Given the description of an element on the screen output the (x, y) to click on. 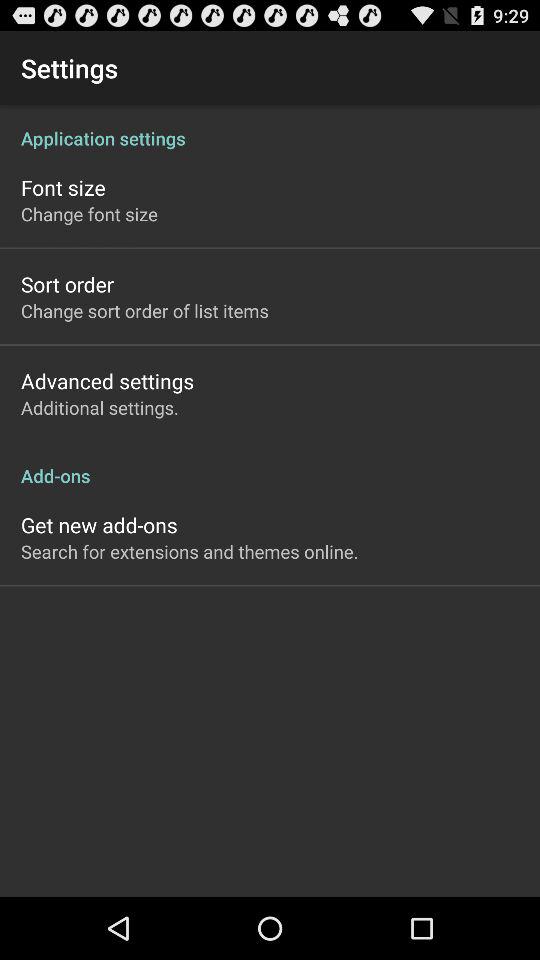
press the icon below change sort order (107, 380)
